Given the description of an element on the screen output the (x, y) to click on. 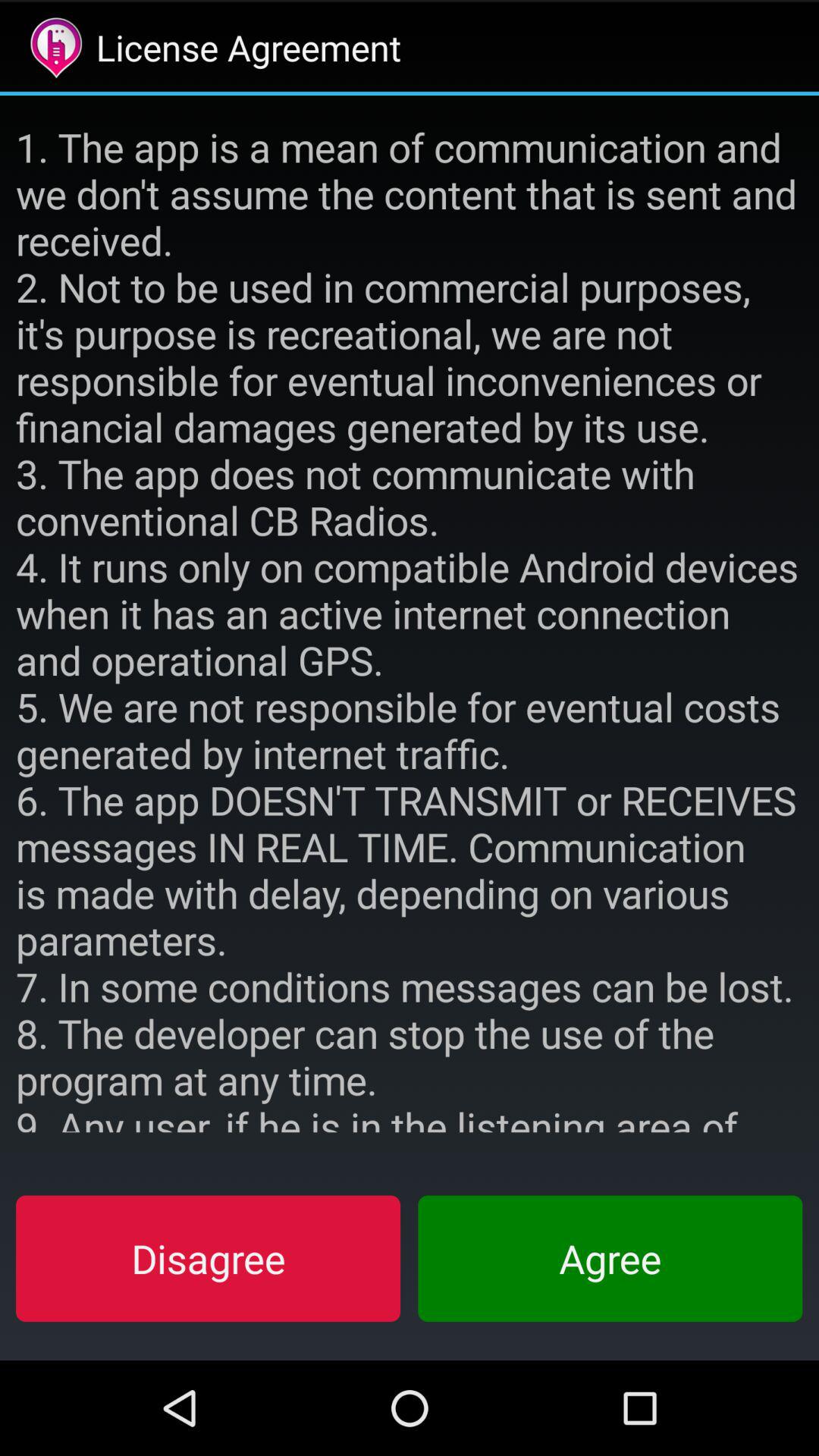
launch the icon below 1 the app (610, 1258)
